Given the description of an element on the screen output the (x, y) to click on. 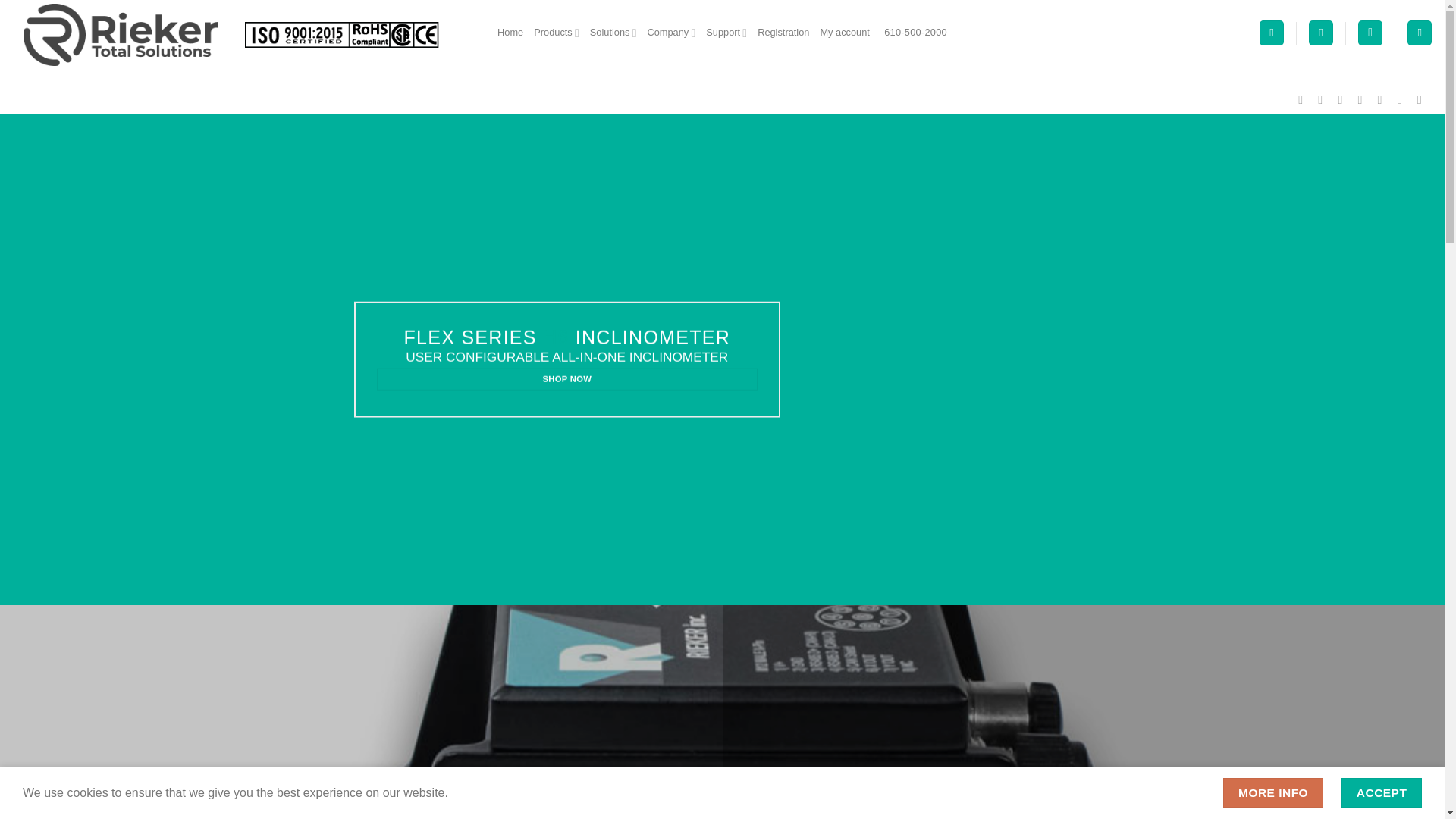
610-500-2000 (913, 32)
My account (844, 32)
Call us (1383, 99)
Cart (1271, 32)
Homepage (509, 32)
Registration (783, 32)
Send us an email (1364, 99)
Support (726, 32)
Home (509, 32)
Products (556, 32)
610-500-2000 (913, 32)
Company (670, 32)
Solutions (613, 32)
